Given the description of an element on the screen output the (x, y) to click on. 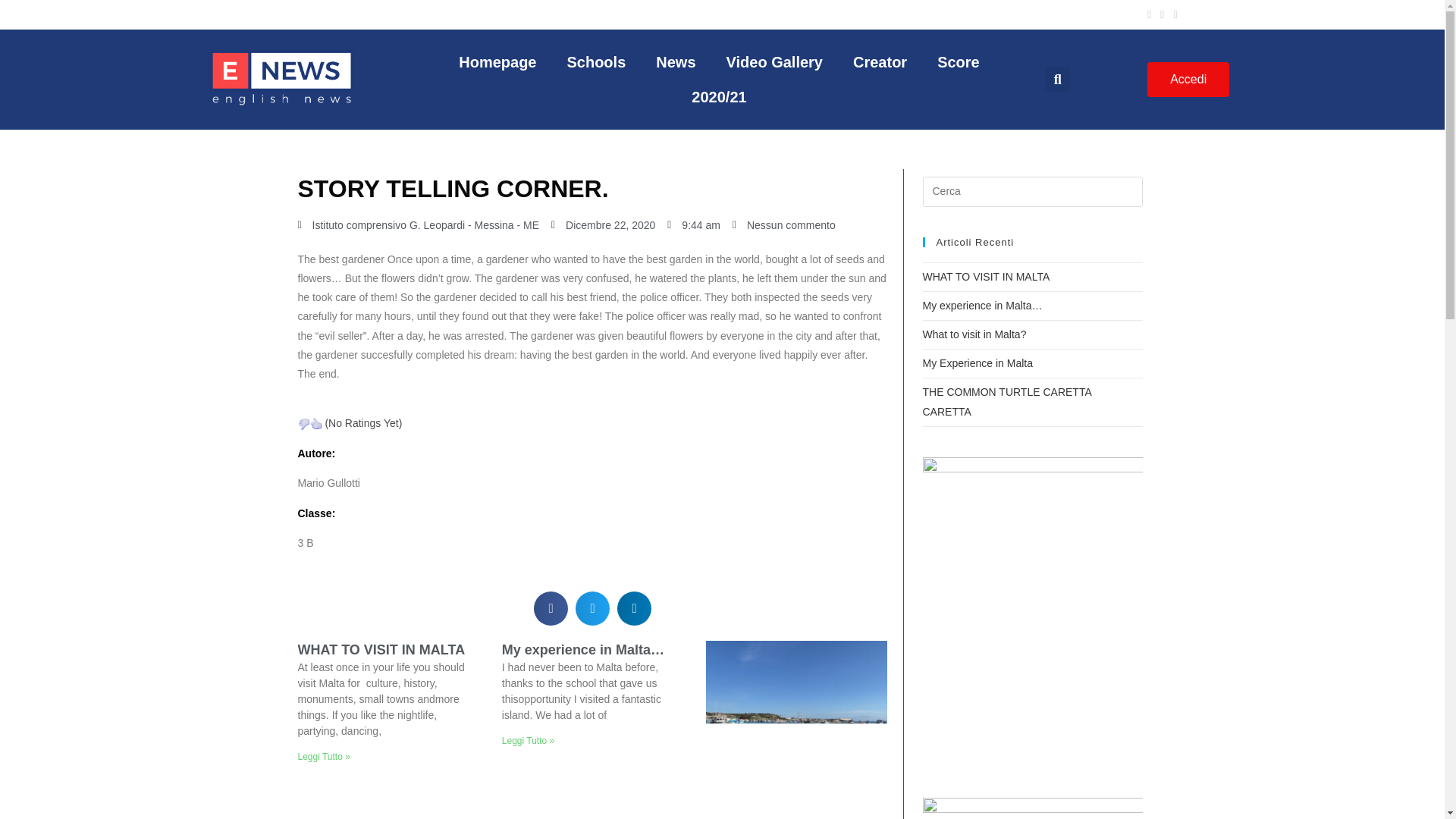
Vote Up (314, 423)
News (675, 62)
Dicembre 22, 2020 (603, 225)
Schools (595, 62)
WHAT TO VISIT IN MALTA (380, 649)
Video Gallery (774, 62)
Creator (879, 62)
Nessun commento (783, 225)
Score (957, 62)
Accedi (1187, 79)
